Given the description of an element on the screen output the (x, y) to click on. 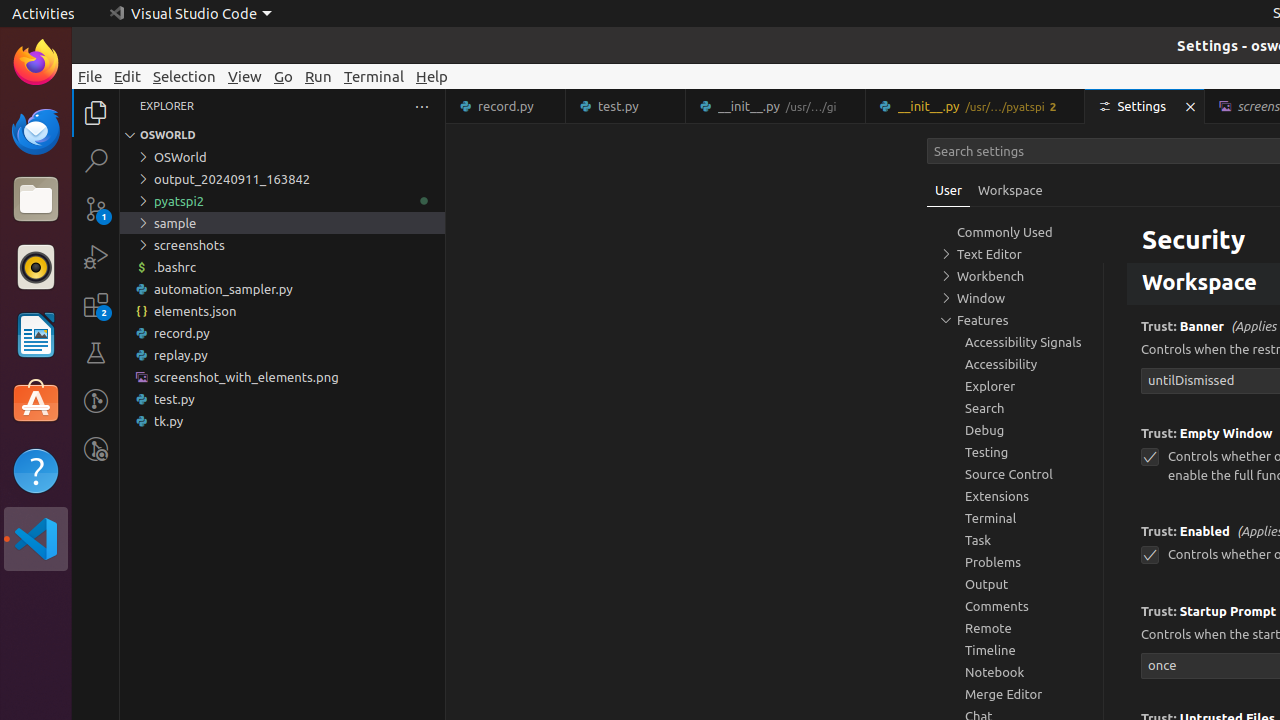
Testing, group Element type: tree-item (1015, 452)
test.py Element type: tree-item (282, 399)
Window, group Element type: tree-item (1015, 298)
Debug, group Element type: tree-item (1015, 430)
Merge Editor, group Element type: tree-item (1015, 694)
